Given the description of an element on the screen output the (x, y) to click on. 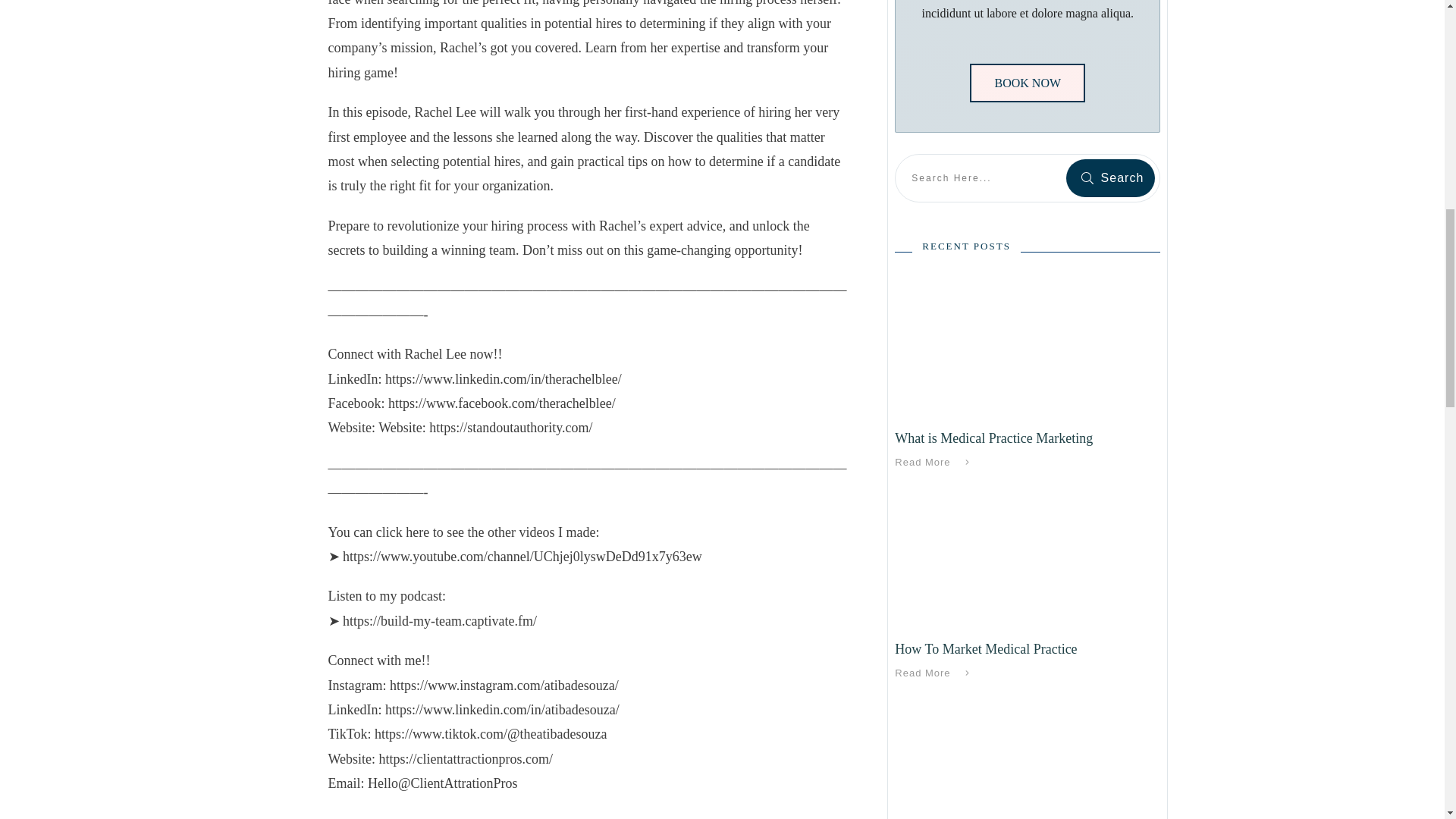
How To Market Medical Practice (986, 648)
BOOK NOW (1026, 82)
Read More (935, 672)
Read More (935, 462)
What is Medical Practice Marketing (994, 437)
Search (1110, 177)
What is Medical Practice Marketing (994, 437)
How To Market Medical Practice (986, 648)
